Given the description of an element on the screen output the (x, y) to click on. 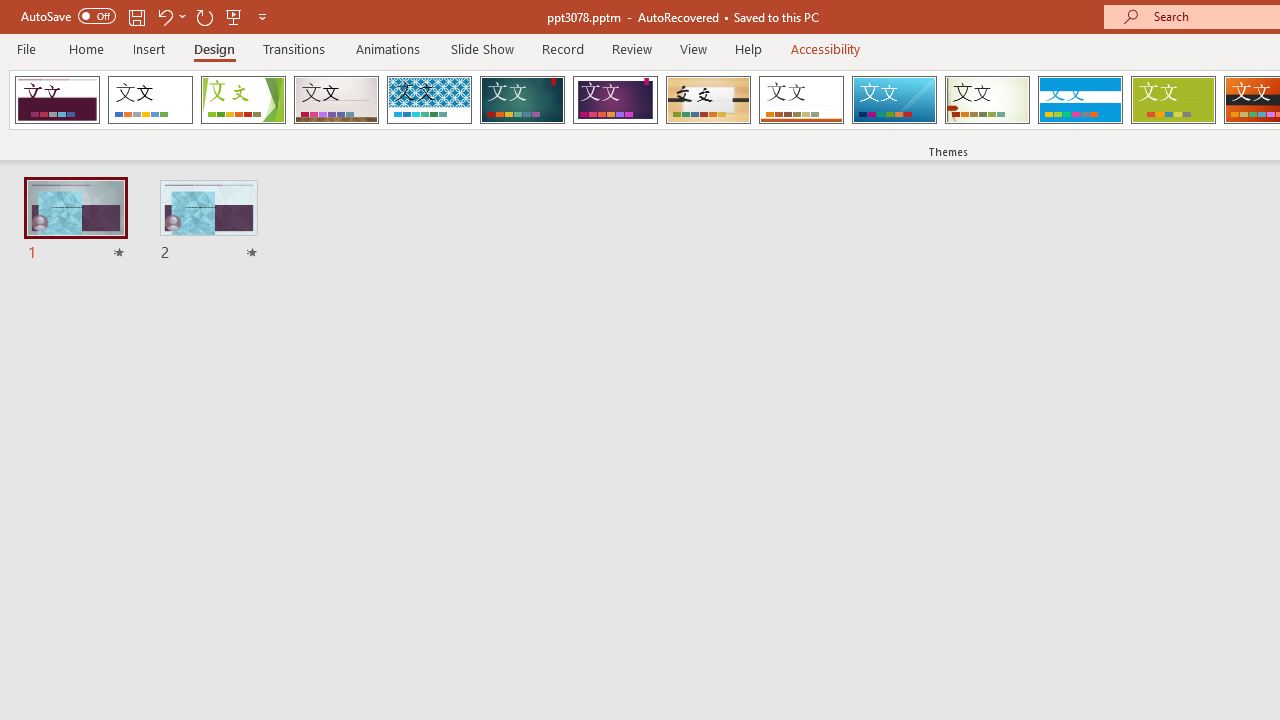
Integral (429, 100)
Office Theme (150, 100)
Droplet (57, 100)
Wisp (987, 100)
Slice (893, 100)
